Given the description of an element on the screen output the (x, y) to click on. 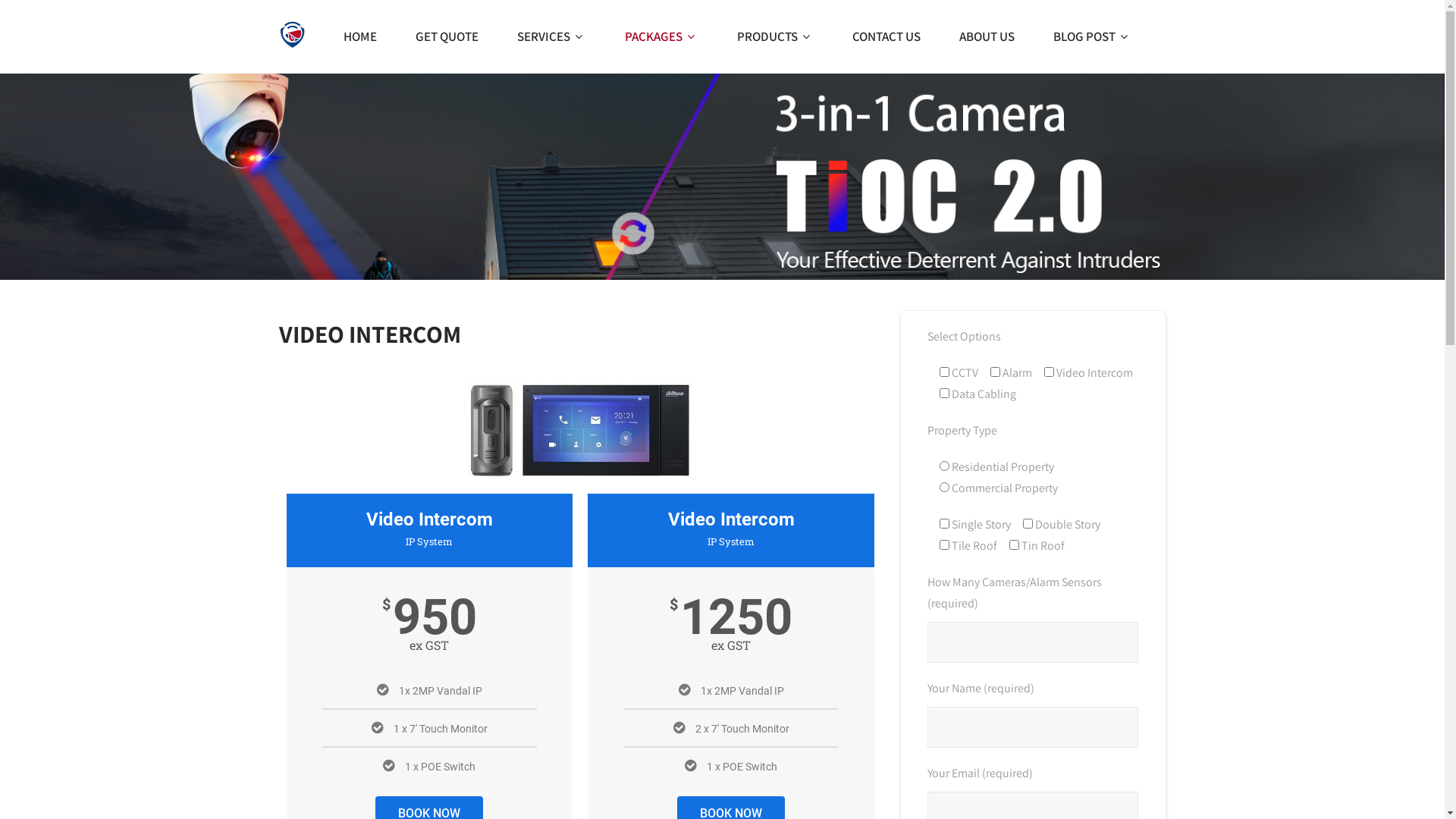
GET QUOTE Element type: text (446, 36)
SERVICES Element type: text (551, 36)
PACKAGES Element type: text (661, 36)
PRODUCTS Element type: text (774, 36)
ABOUT US Element type: text (986, 36)
HOME Element type: text (359, 36)
CONTACT US Element type: text (886, 36)
Security Camera Installation | Alarm System | Video Intercom Element type: hover (292, 33)
BLOG POST Element type: text (1099, 36)
